Given the description of an element on the screen output the (x, y) to click on. 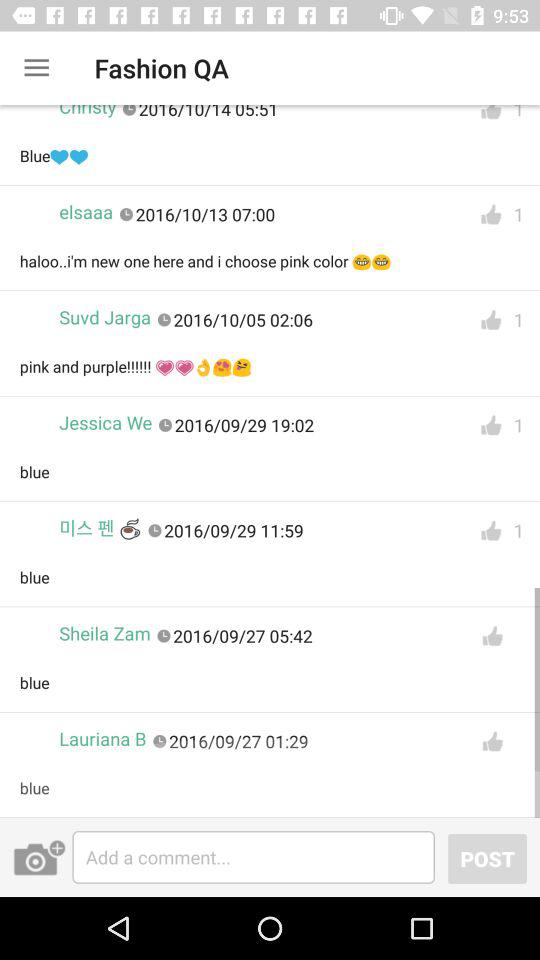
tap the icon next to the post (253, 857)
